Given the description of an element on the screen output the (x, y) to click on. 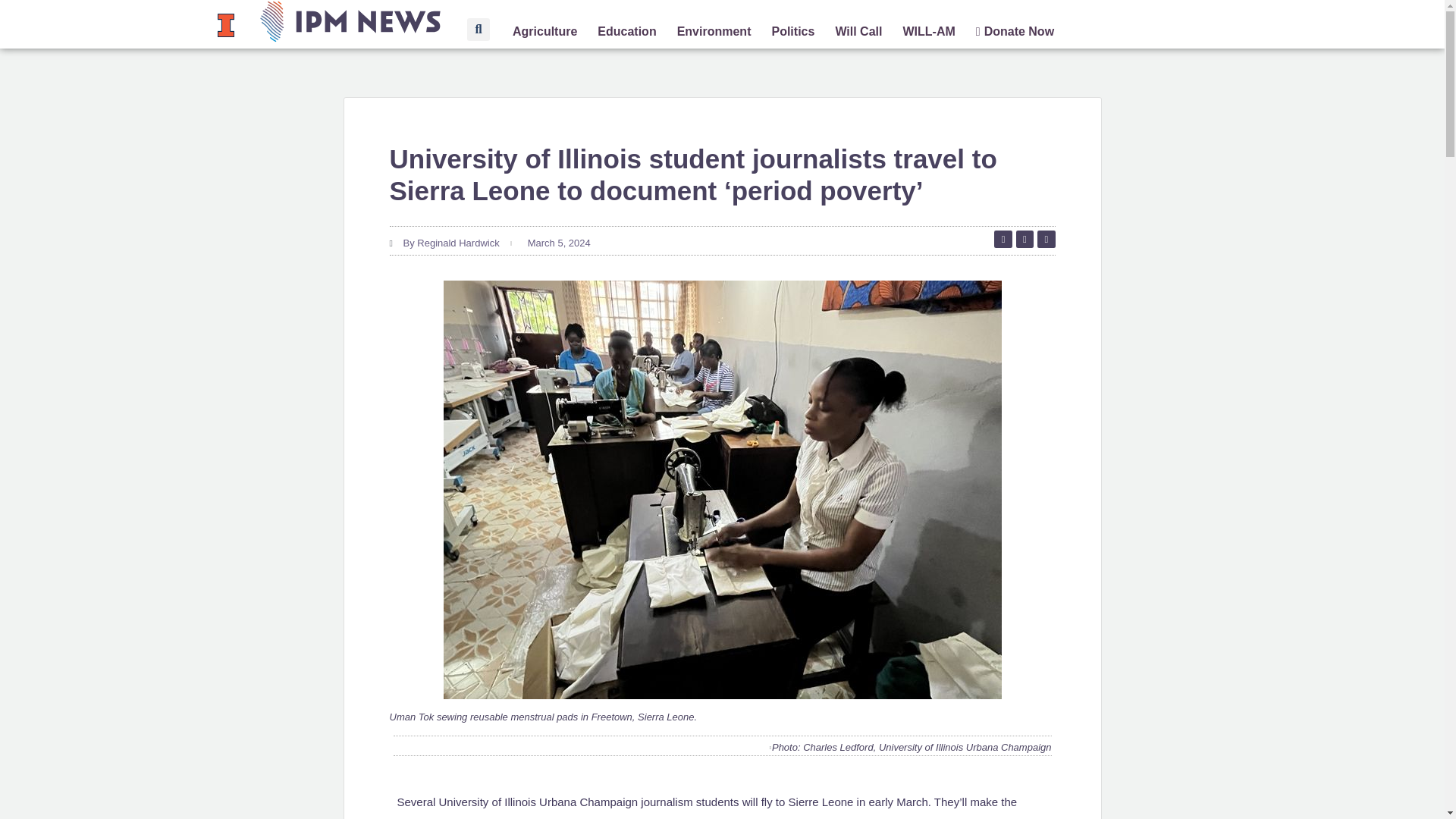
WILL-AM (928, 31)
Education (626, 31)
Environment (714, 31)
Will Call (858, 31)
Agriculture (544, 31)
Politics (792, 31)
Donate Now (1014, 31)
March 5, 2024 (556, 242)
